Given the description of an element on the screen output the (x, y) to click on. 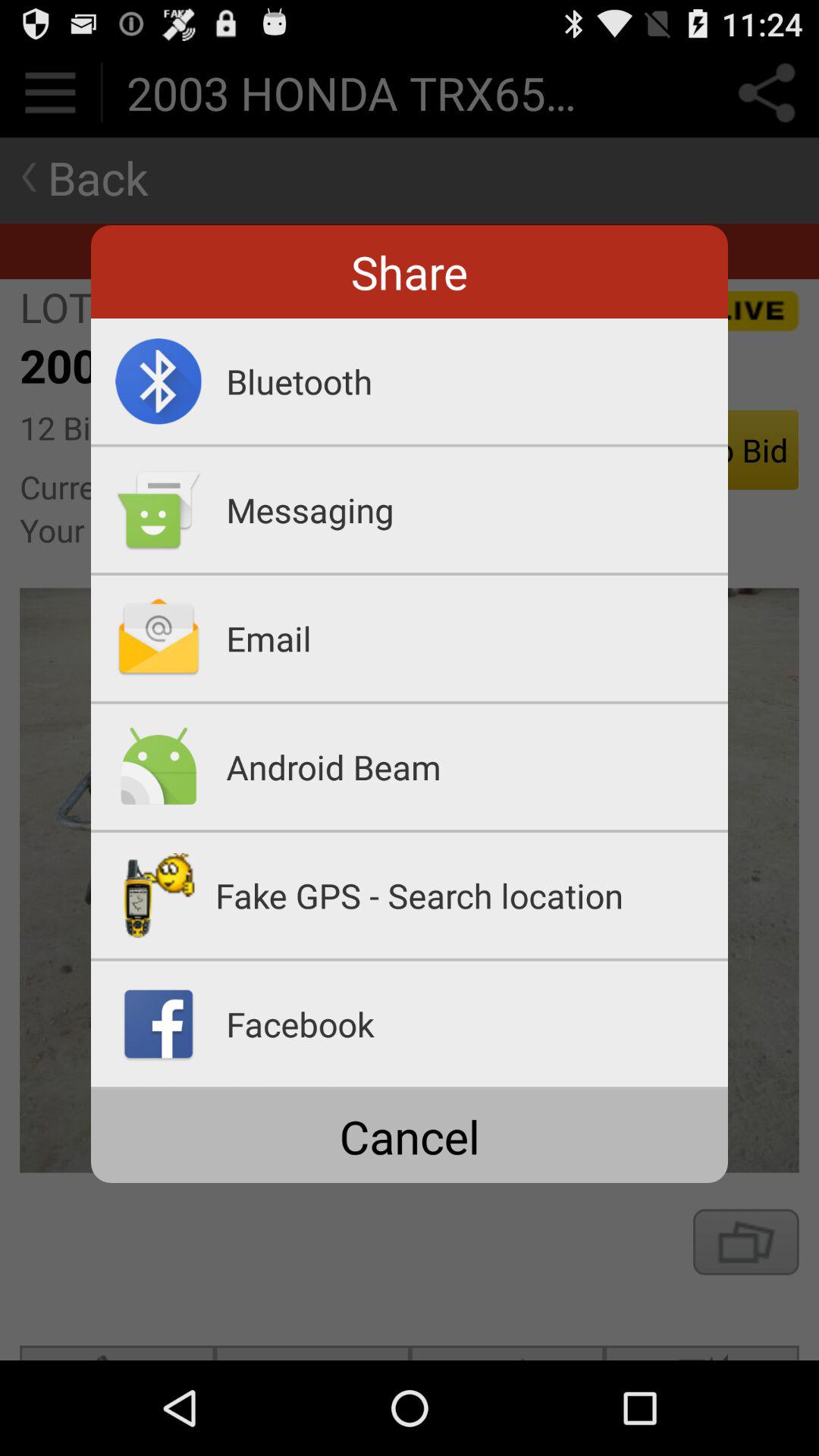
open email icon (477, 638)
